Given the description of an element on the screen output the (x, y) to click on. 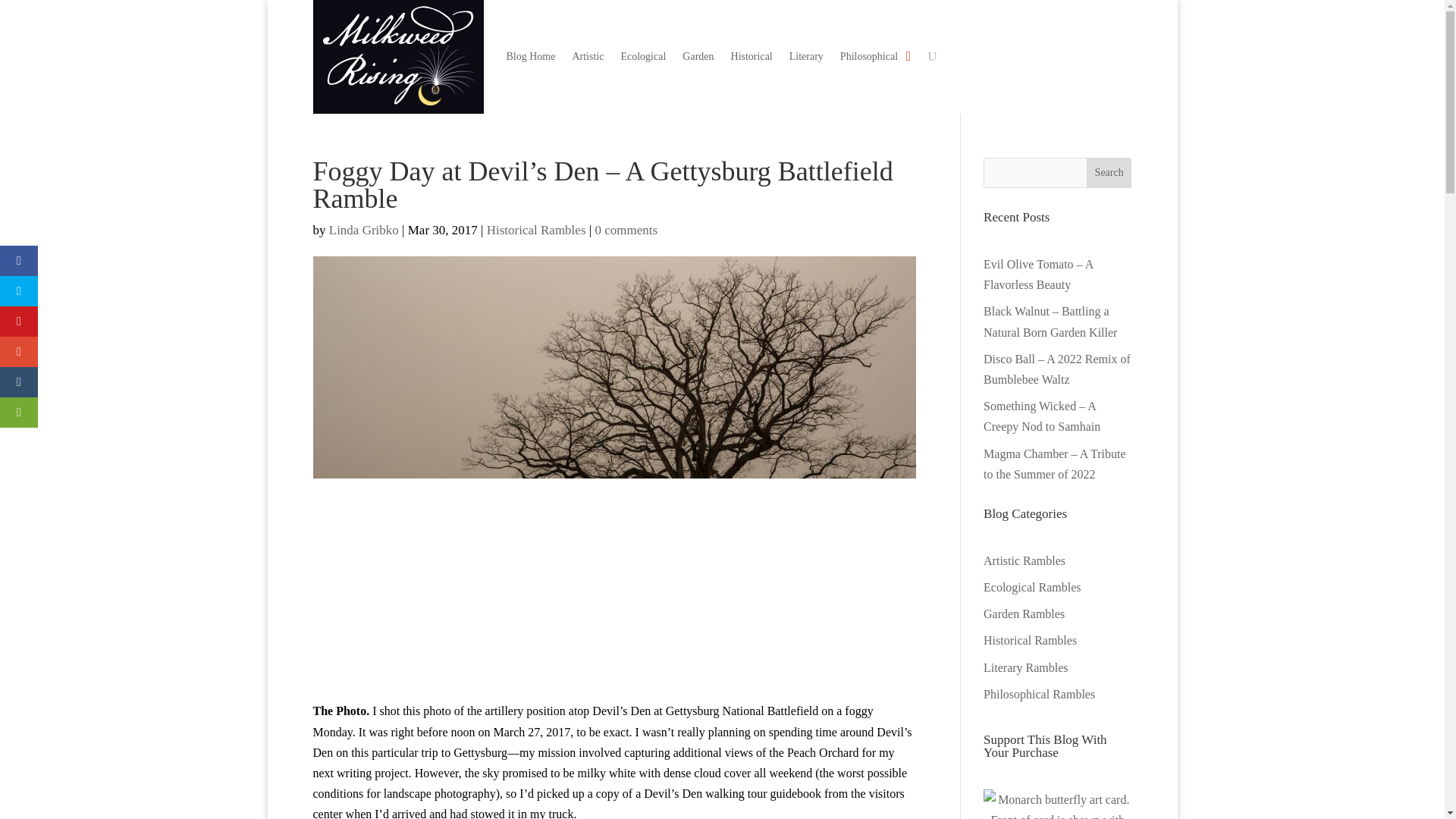
Linda Gribko (363, 229)
Posts by Linda Gribko (363, 229)
0 comments (626, 229)
Historical Rambles (536, 229)
Search (1109, 173)
Artistic Rambles (1024, 560)
